Given the description of an element on the screen output the (x, y) to click on. 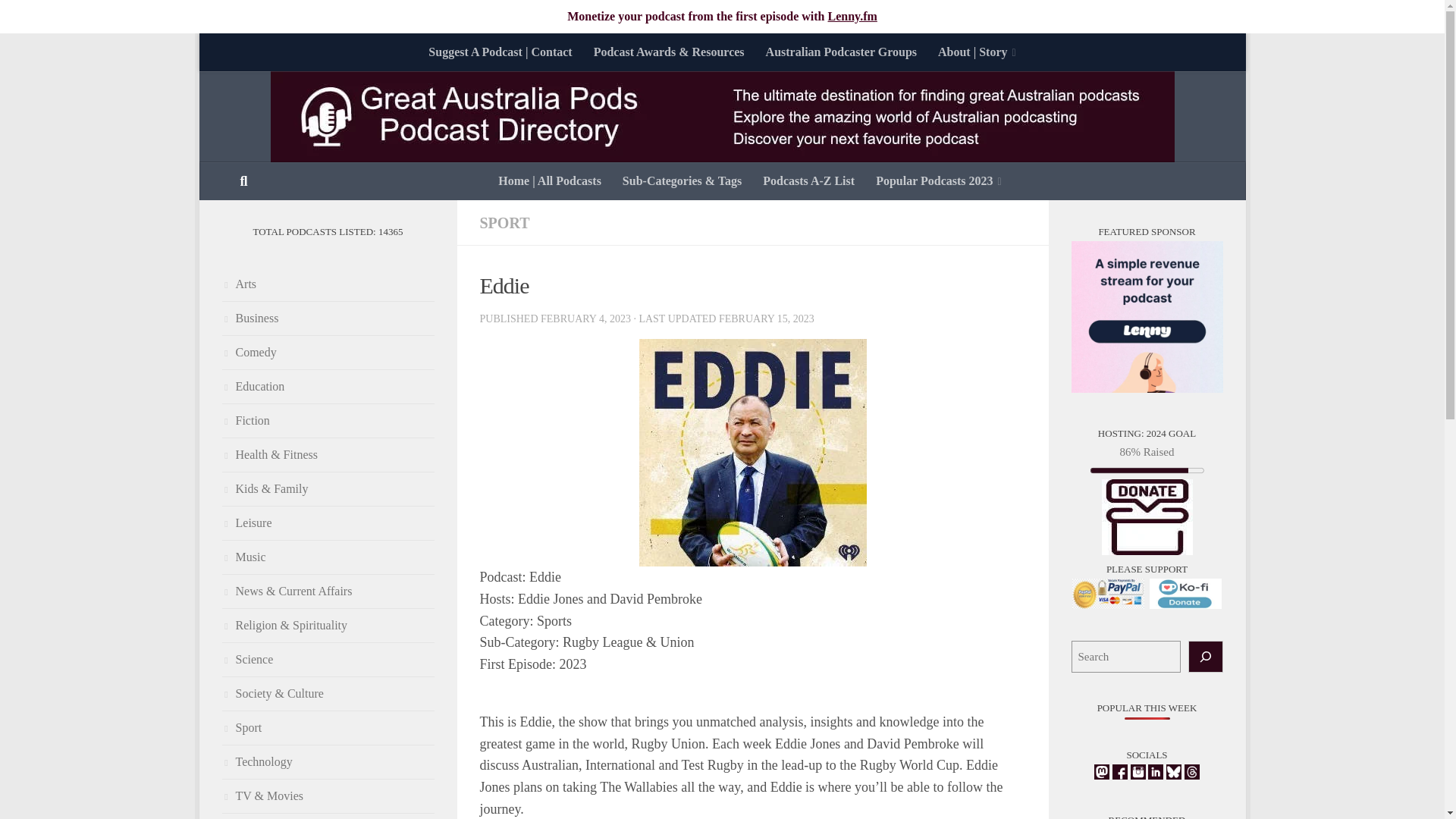
Popular Podcasts 2023 (937, 180)
HOSTING: 2024 GOAL (1146, 517)
SPORT (504, 222)
Australian Podcaster Groups (841, 52)
Skip to content (258, 54)
Monetize your podcast from the first episode with Lenny.fm (722, 15)
Podcasts A-Z List (808, 180)
